Given the description of an element on the screen output the (x, y) to click on. 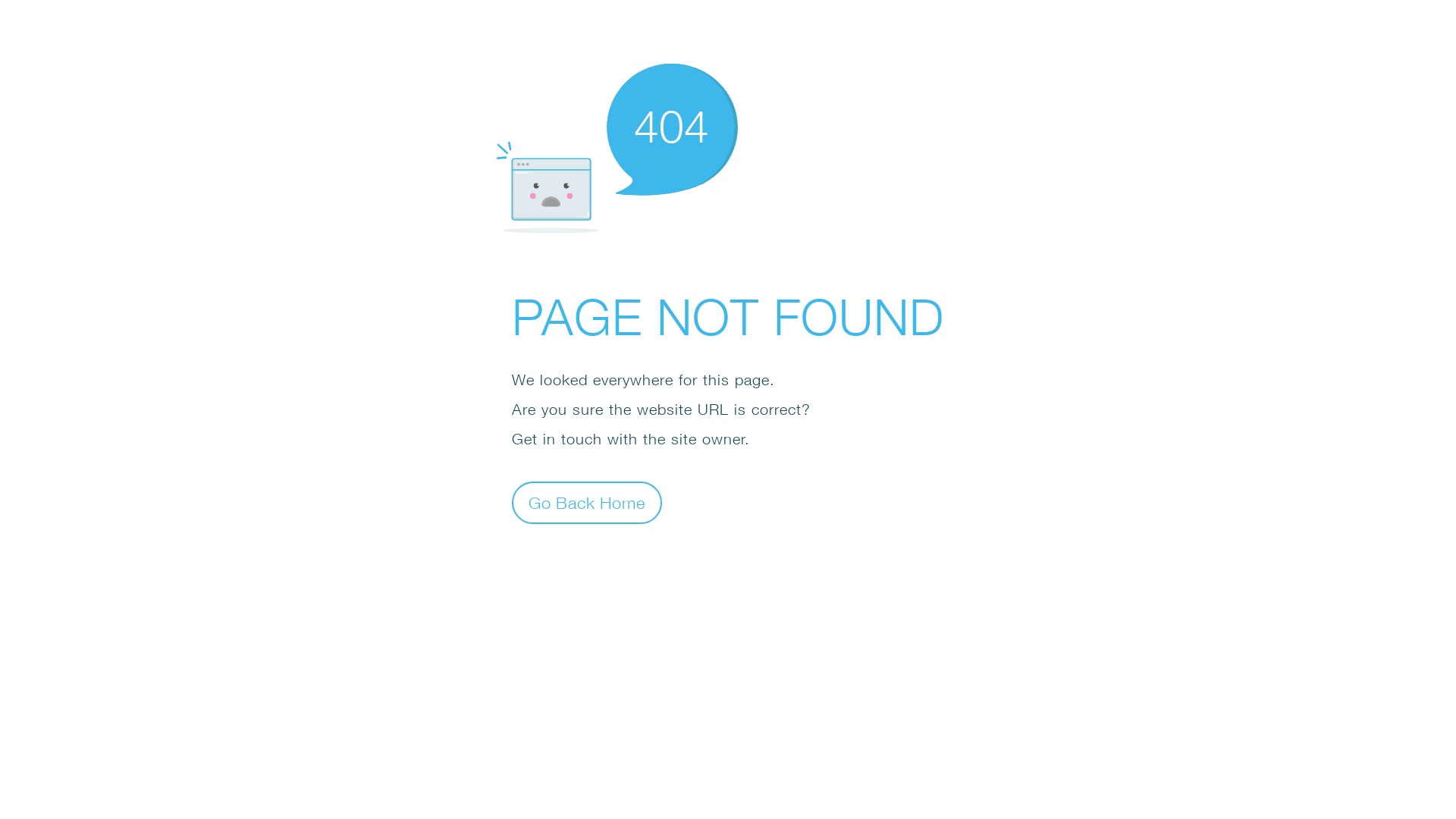
Go Back Home Element type: text (586, 502)
